Given the description of an element on the screen output the (x, y) to click on. 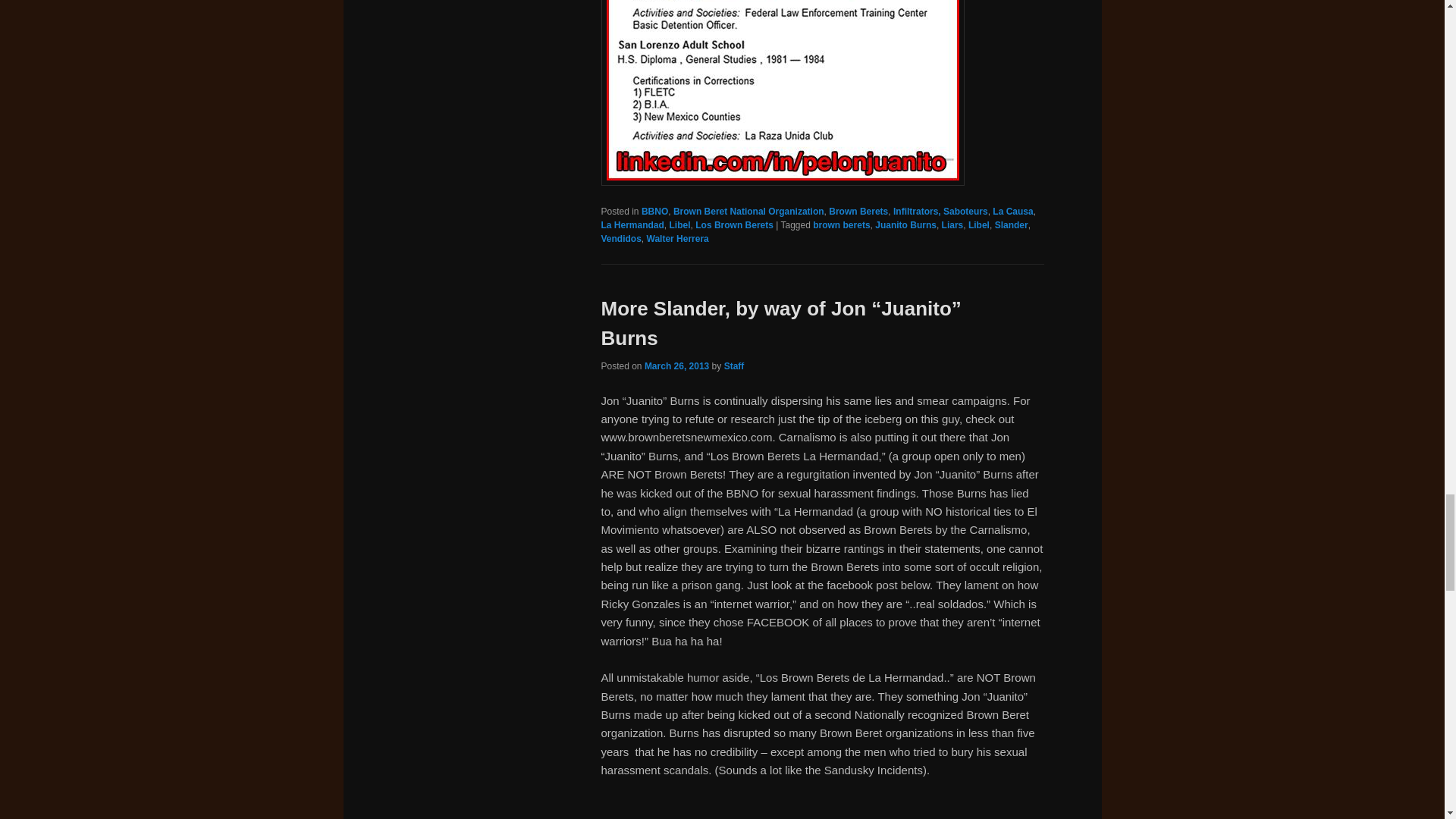
4:01 pm (677, 366)
View all posts by Staff (733, 366)
